Given the description of an element on the screen output the (x, y) to click on. 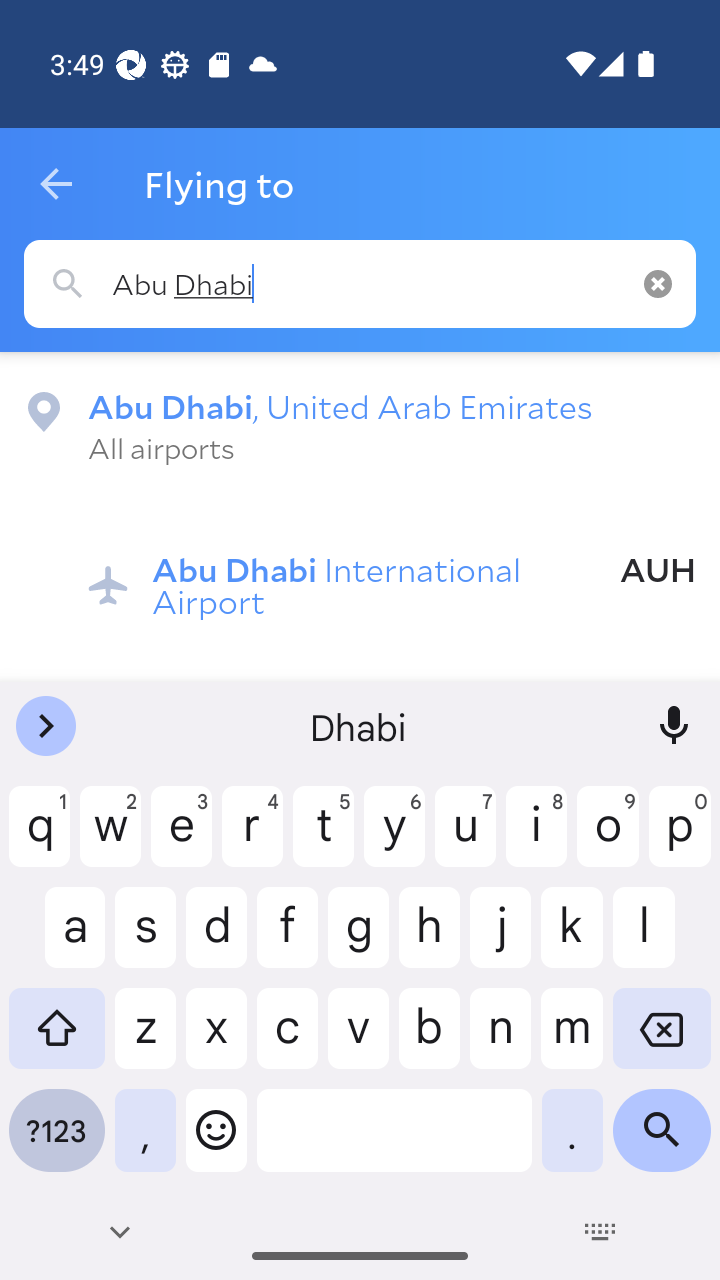
Navigate up (56, 184)
Abu Dhabi (359, 283)
Abu Dhabi, United Arab Emirates All airports (360, 425)
Abu Dhabi International Airport AUH (392, 568)
